Given the description of an element on the screen output the (x, y) to click on. 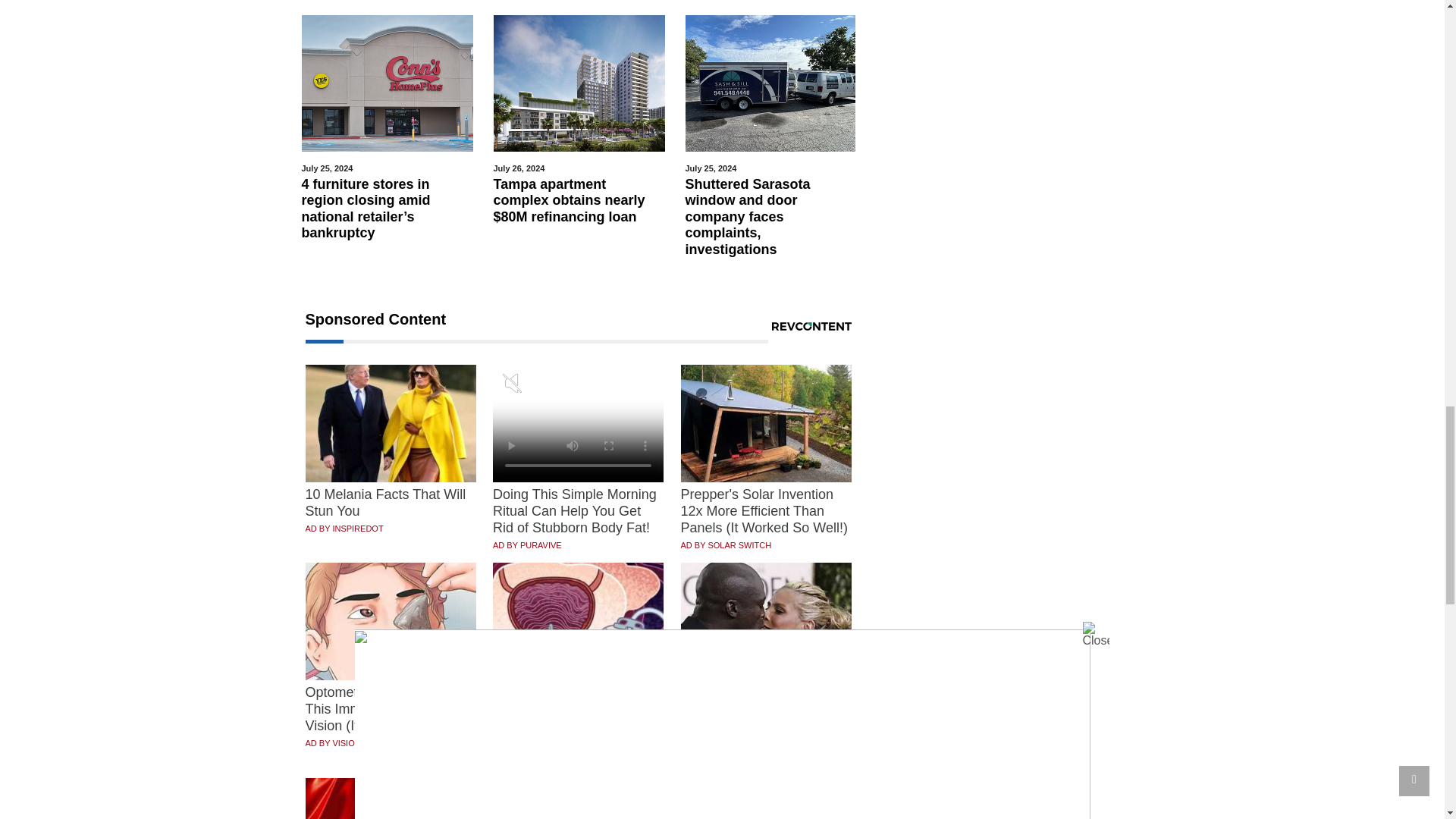
3rd party ad content (1010, 313)
3rd party ad content (1010, 101)
